Given the description of an element on the screen output the (x, y) to click on. 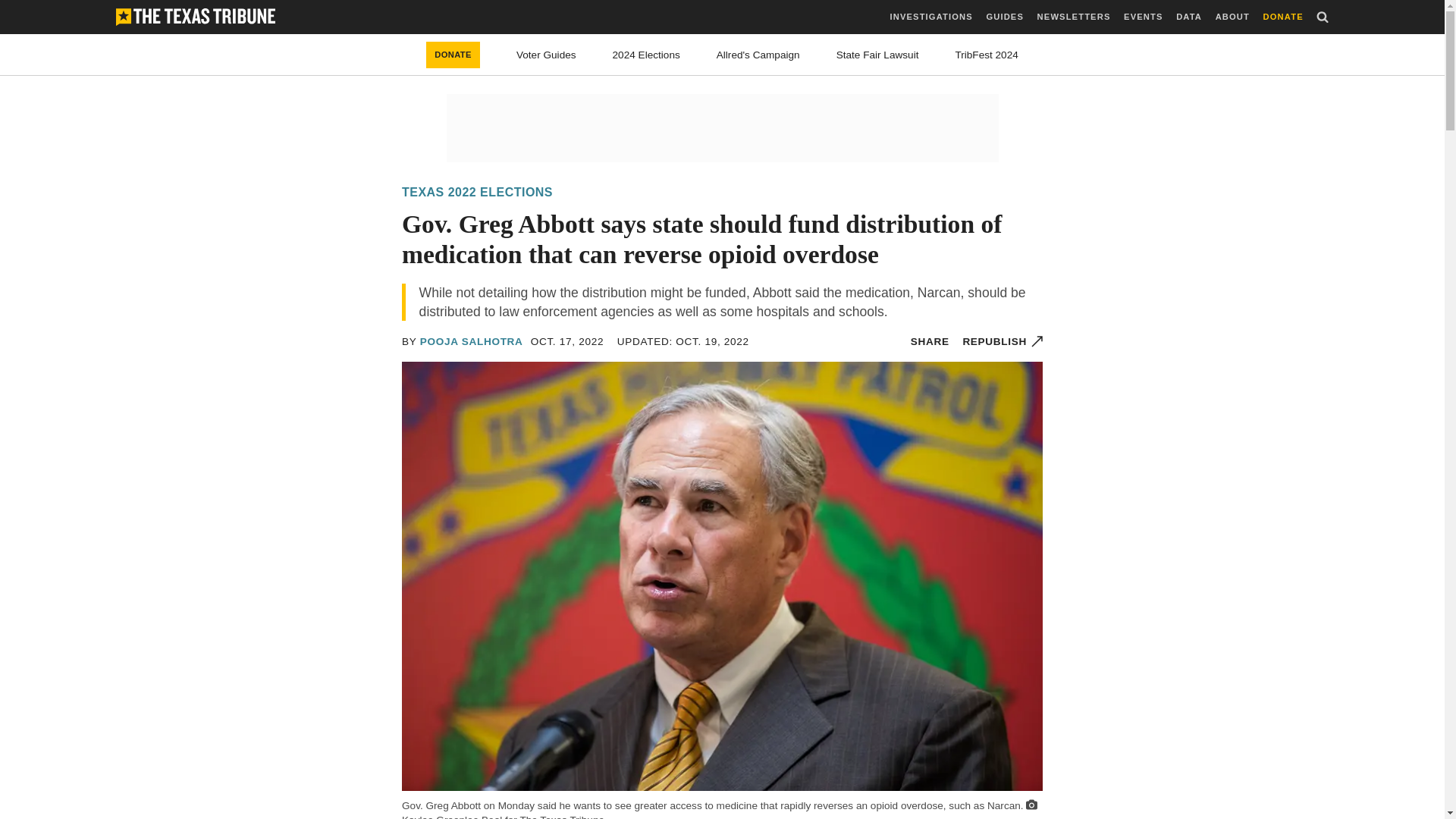
NEWSLETTERS (1073, 17)
2022-10-19 10:34 CDT (683, 341)
REPUBLISH (1002, 341)
POOJA SALHOTRA (471, 341)
TEXAS 2022 ELECTIONS (477, 192)
Allred's Campaign (757, 54)
State Fair Lawsuit (876, 54)
2022-10-17 20:49 CDT (567, 341)
ABOUT (1232, 17)
EVENTS (1142, 17)
